Given the description of an element on the screen output the (x, y) to click on. 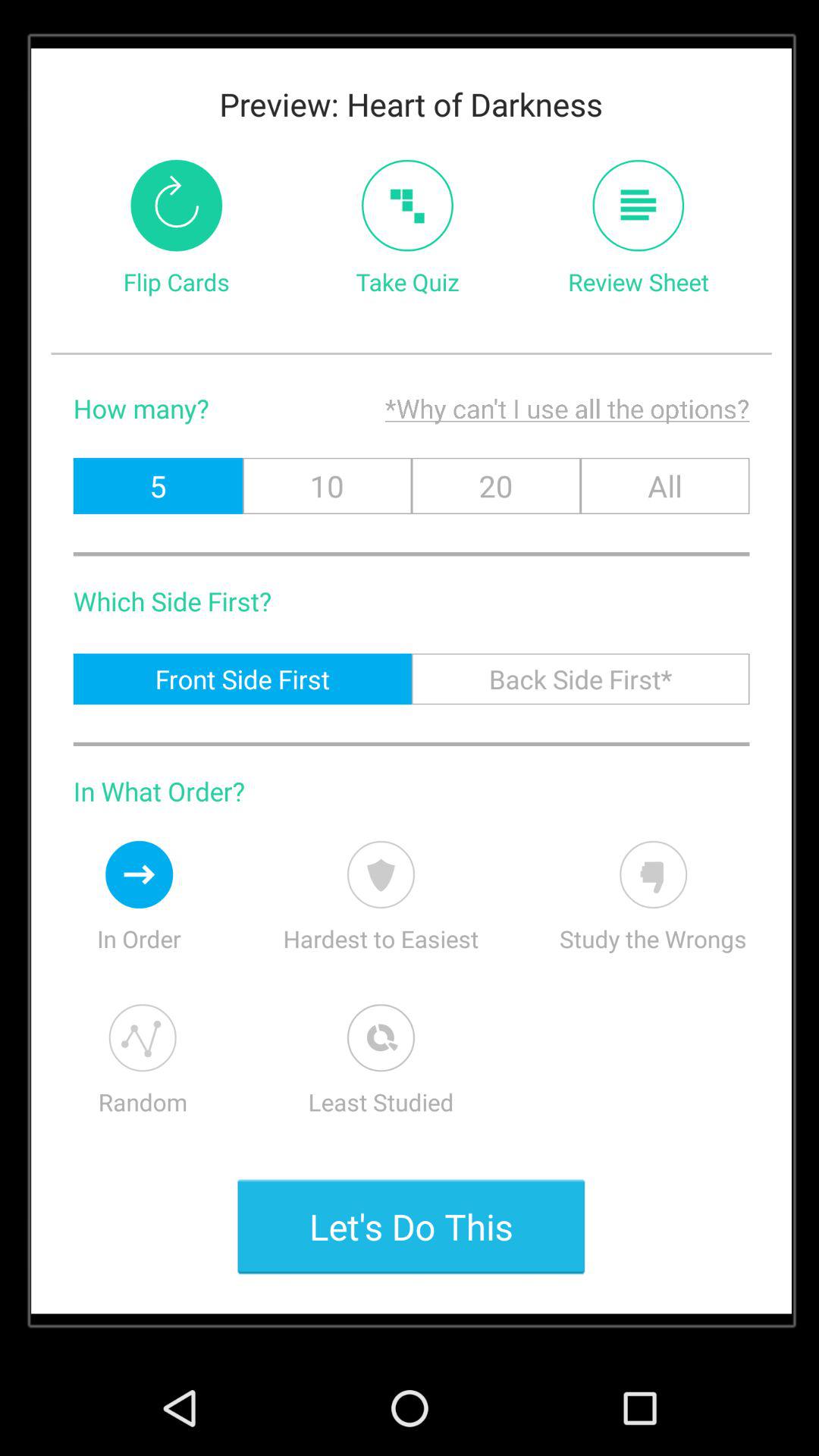
flip cards (176, 205)
